Given the description of an element on the screen output the (x, y) to click on. 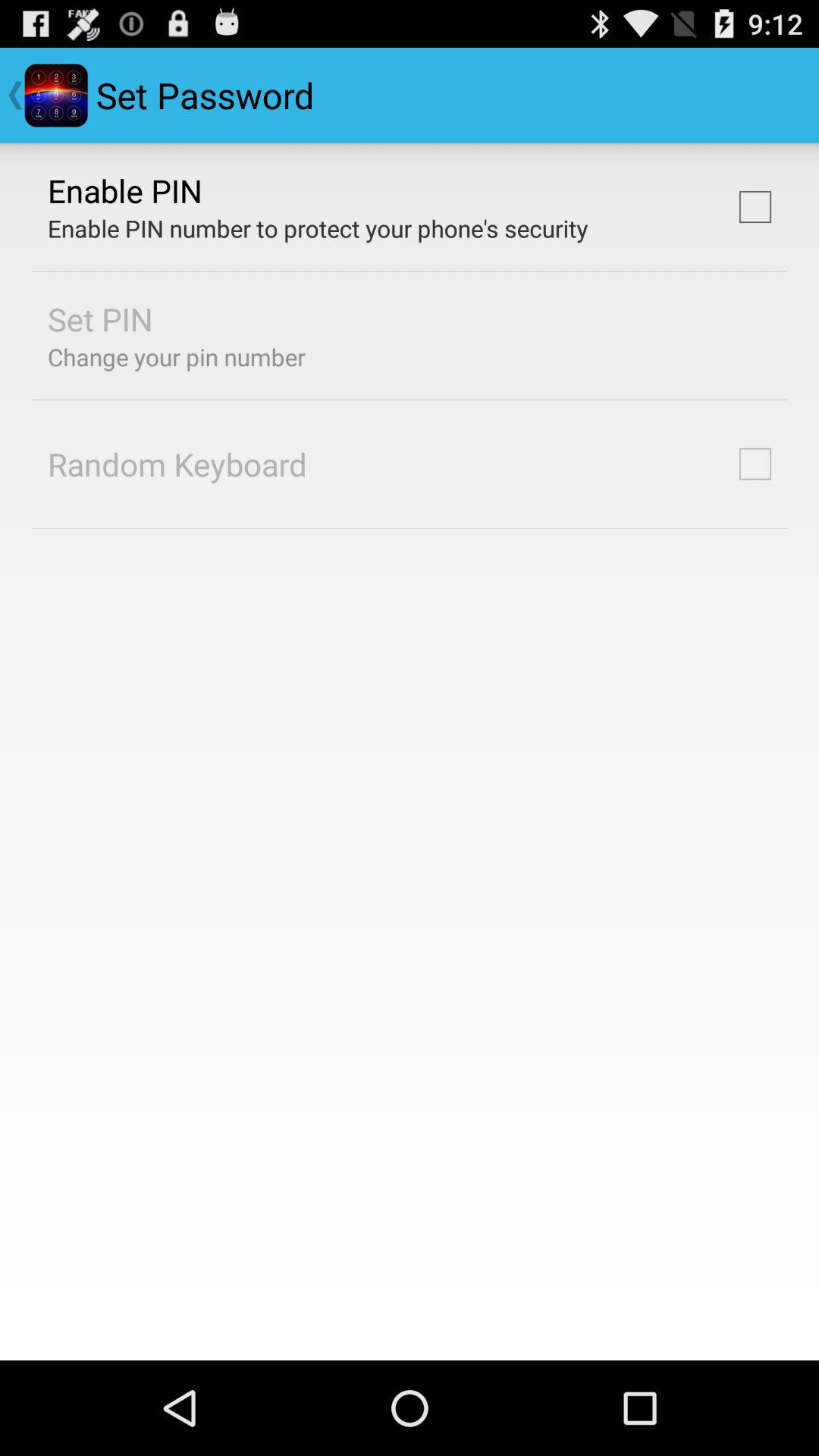
press the icon above change your pin (99, 318)
